Given the description of an element on the screen output the (x, y) to click on. 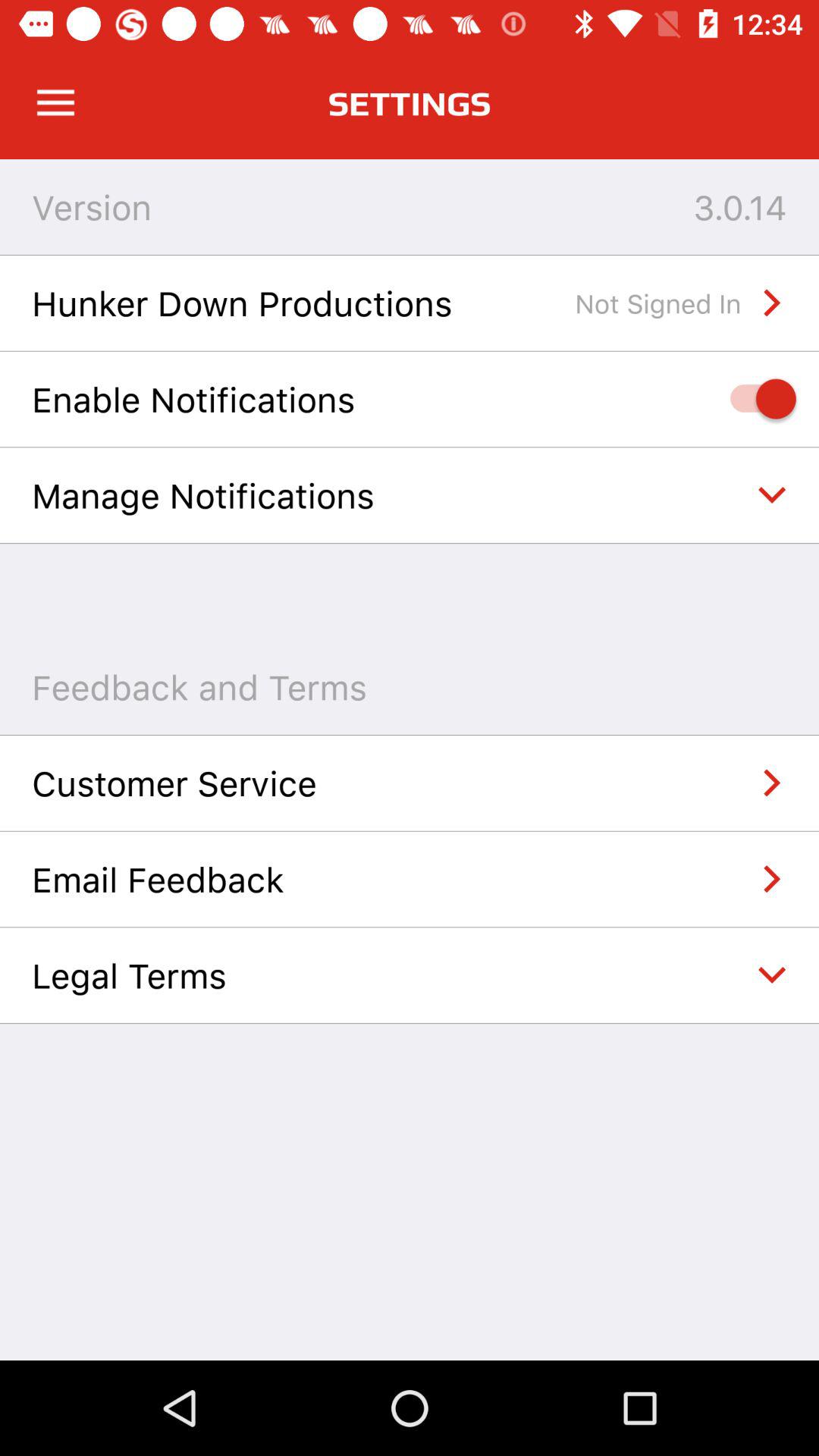
toggle notifications on/off (755, 398)
